Given the description of an element on the screen output the (x, y) to click on. 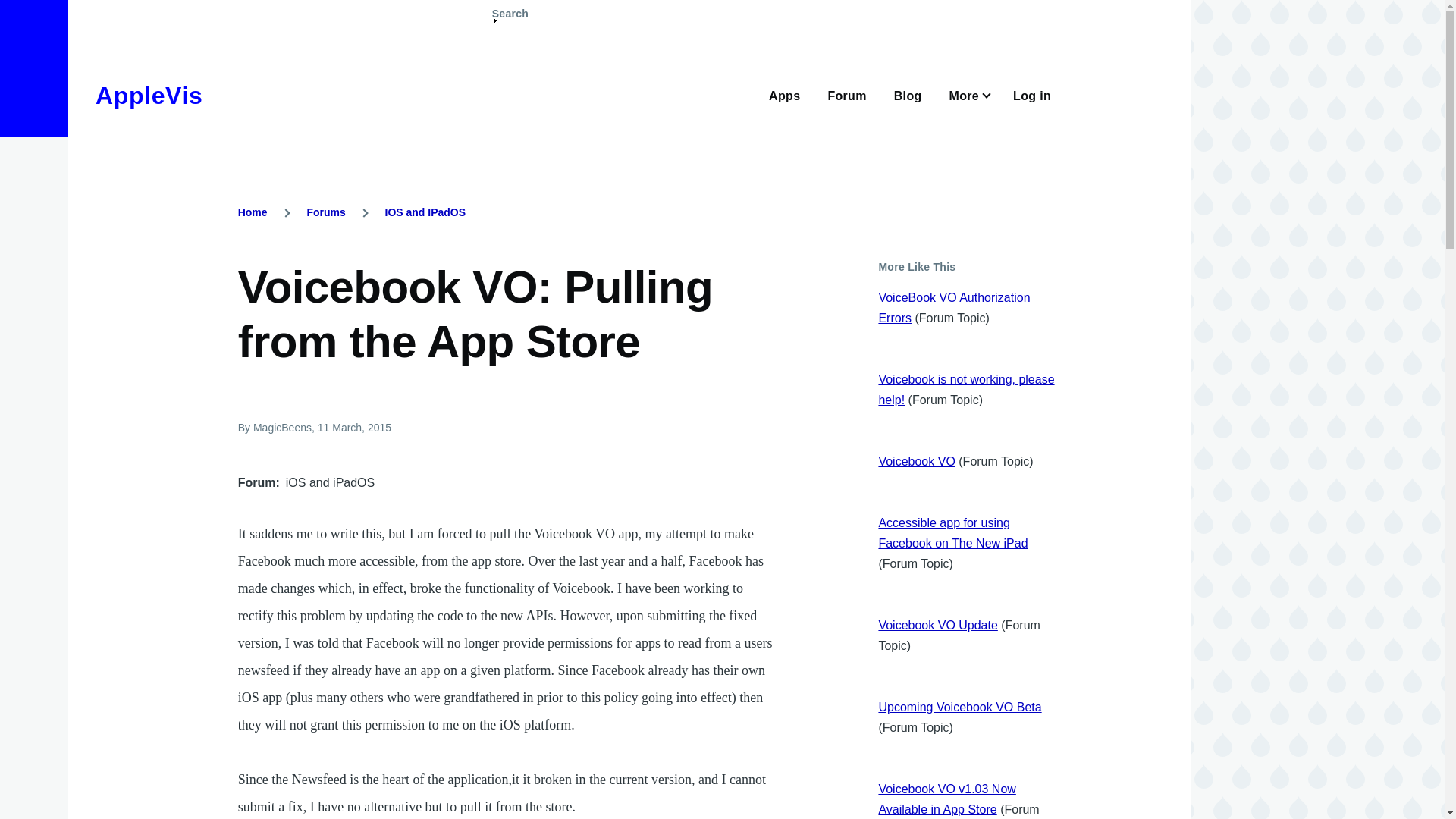
Voicebook VO v1.03 Now Available in App Store (945, 798)
IOS and IPadOS (425, 212)
Voicebook is not working, please help! (965, 389)
Voicebook VO (916, 461)
Search (510, 20)
Voicebook VO Update (937, 625)
Home (252, 212)
Accessible app for using Facebook on The New iPad (952, 532)
Forums (325, 212)
Skip to main content (595, 6)
Home (149, 94)
Upcoming Voicebook VO Beta (959, 707)
AppleVis (149, 94)
VoiceBook VO Authorization Errors (953, 307)
